Given the description of an element on the screen output the (x, y) to click on. 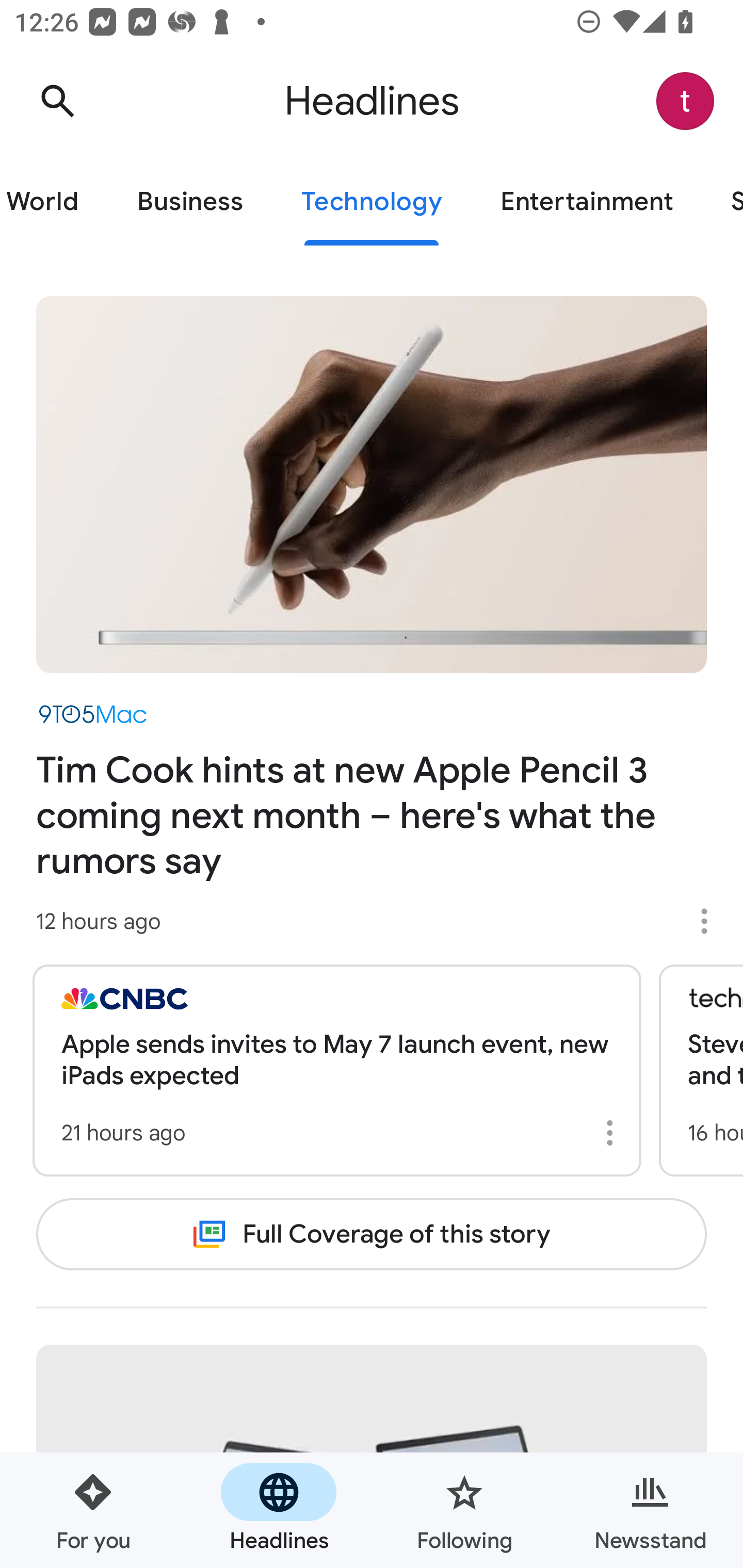
Search (57, 100)
World (53, 202)
Business (189, 202)
Entertainment (586, 202)
More options (711, 921)
More options (613, 1132)
Full Coverage of this story (371, 1233)
For you (92, 1509)
Headlines (278, 1509)
Following (464, 1509)
Newsstand (650, 1509)
